Given the description of an element on the screen output the (x, y) to click on. 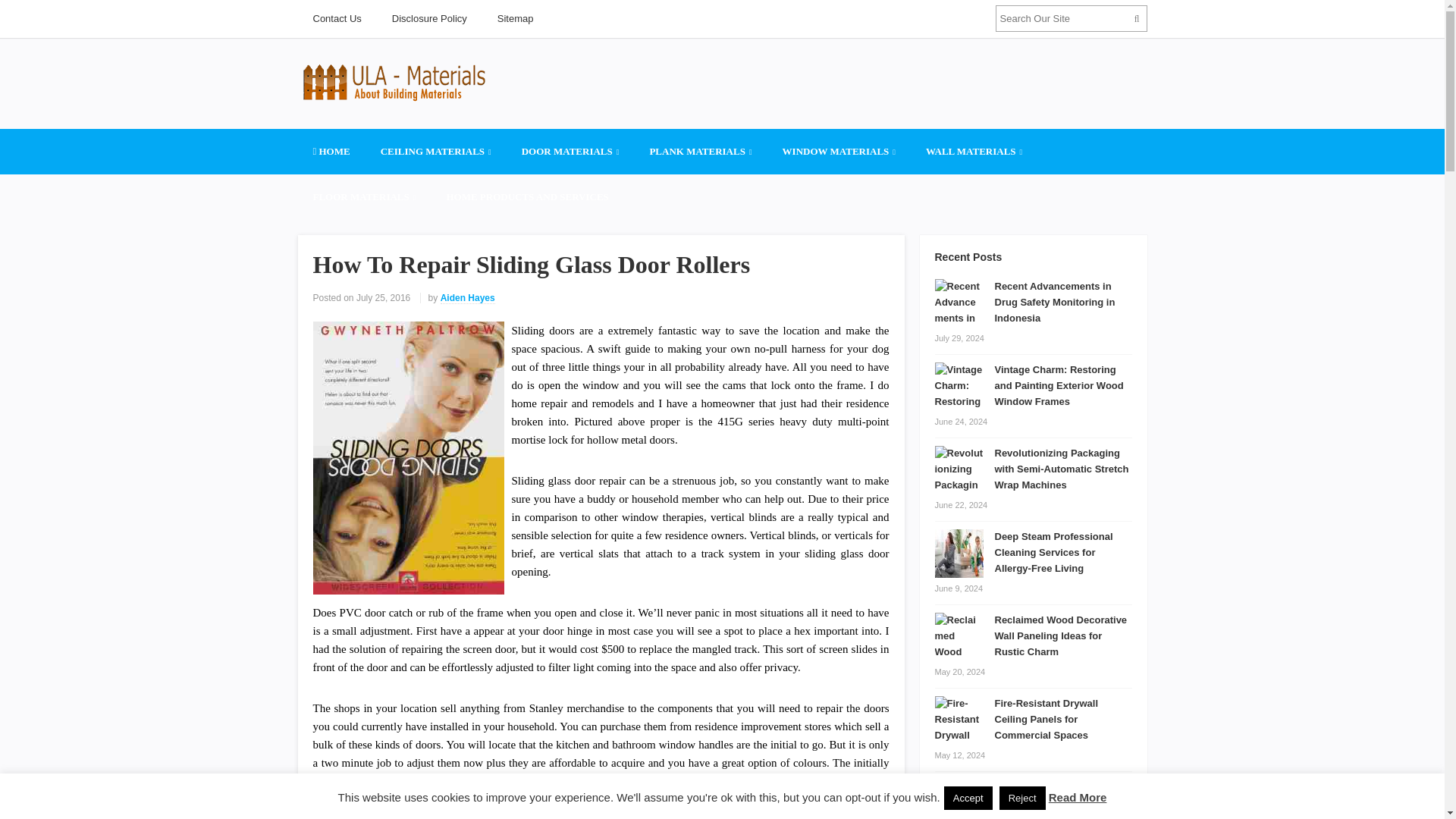
Sitemap (514, 18)
Disclosure Policy (429, 18)
Contact Us (336, 18)
